Given the description of an element on the screen output the (x, y) to click on. 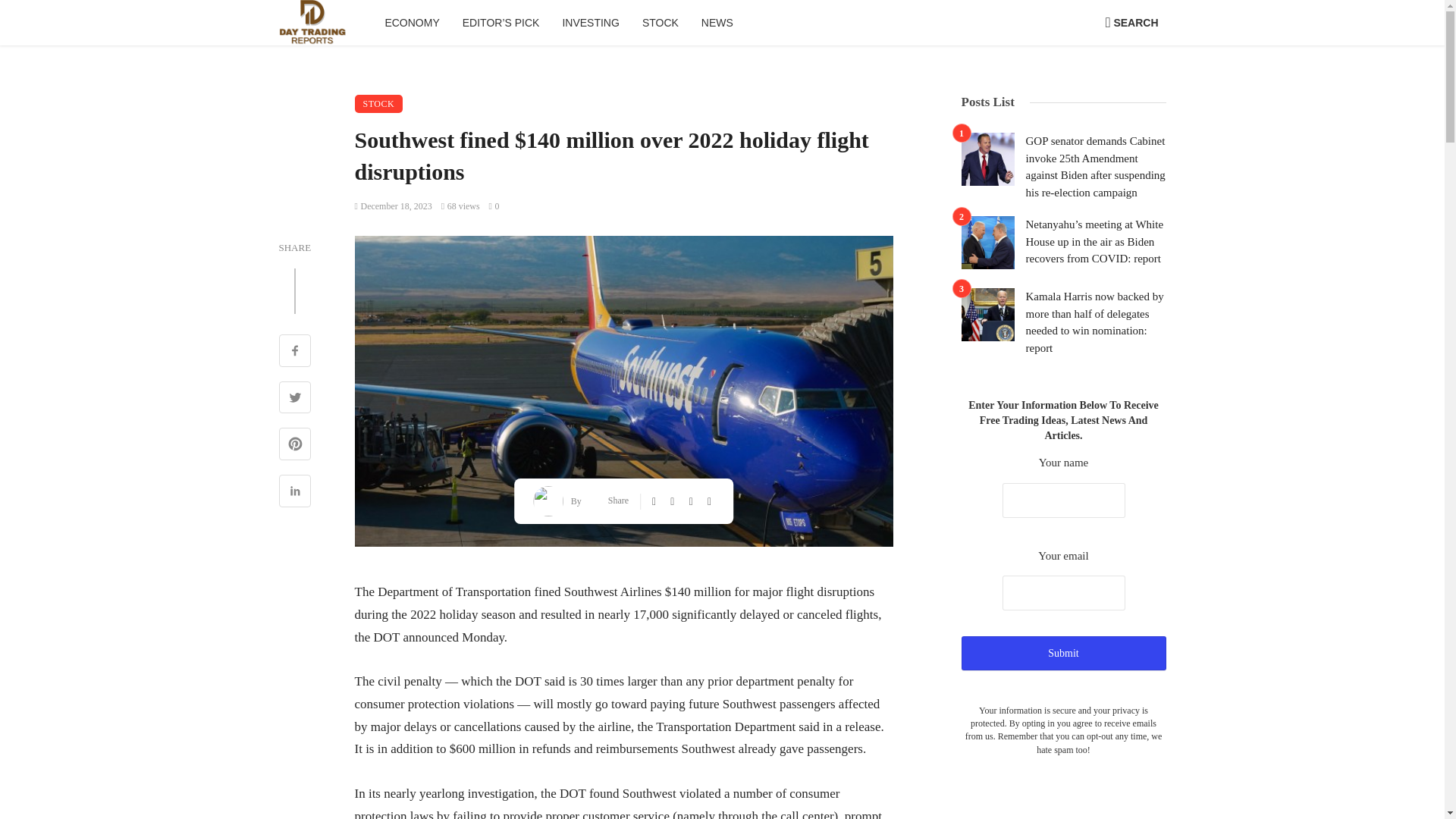
SEARCH (1131, 22)
INVESTING (590, 22)
Share on Linkedin (295, 493)
NEWS (717, 22)
Submit (1063, 653)
Share on Twitter (295, 399)
0 Comments (494, 205)
Share on Pinterest (295, 445)
ECONOMY (410, 22)
STOCK (660, 22)
December 18, 2023 at 12:58 pm (393, 205)
STOCK (379, 104)
Share on Facebook (295, 352)
0 (494, 205)
